Given the description of an element on the screen output the (x, y) to click on. 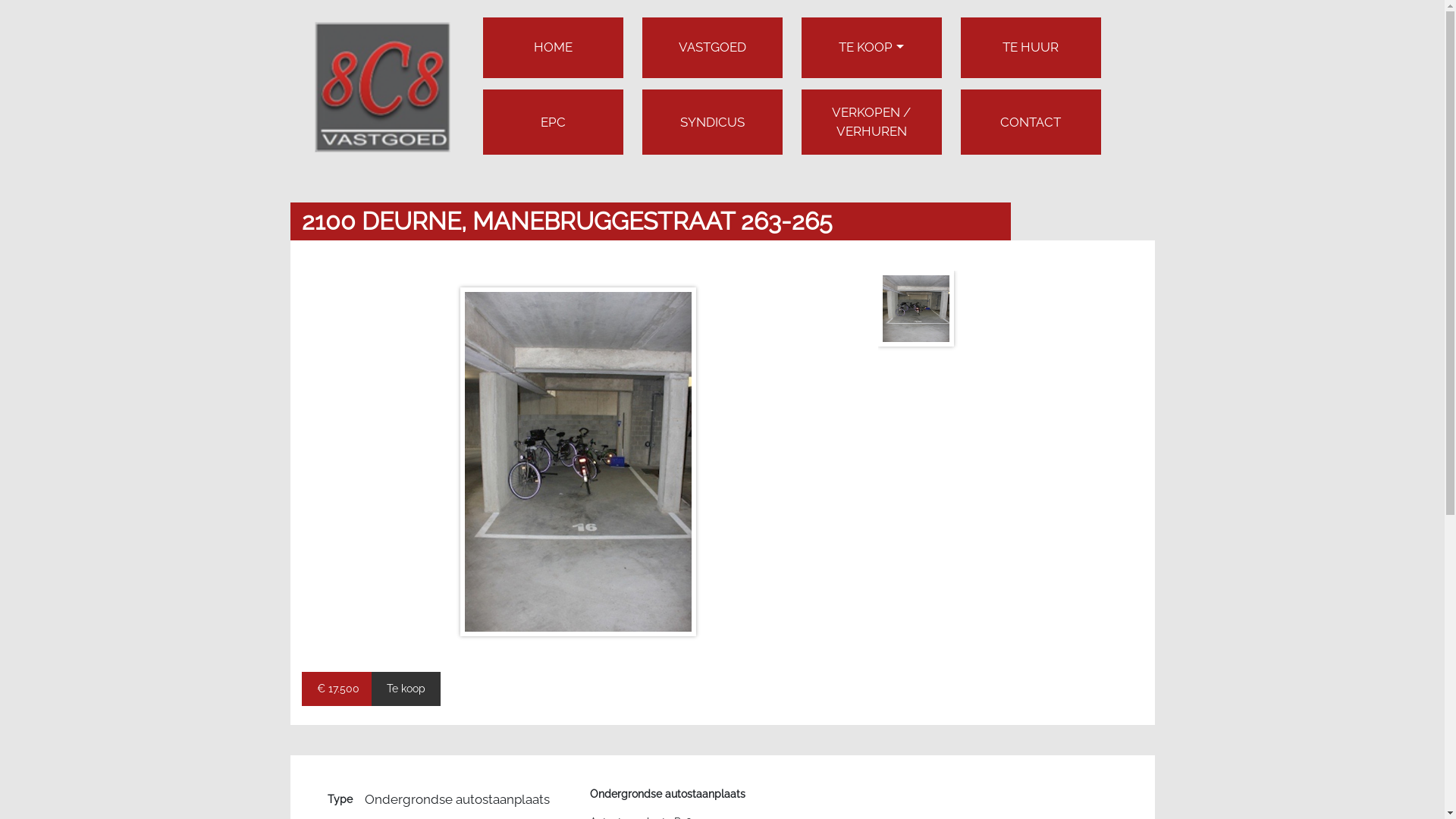
TE KOOP Element type: text (870, 46)
TE HUUR Element type: text (1030, 46)
SYNDICUS Element type: text (711, 122)
VASTGOED Element type: text (711, 46)
CONTACT Element type: text (1030, 122)
HOME Element type: text (552, 46)
EPC Element type: text (552, 122)
VERKOPEN /
VERHUREN Element type: text (870, 122)
